Given the description of an element on the screen output the (x, y) to click on. 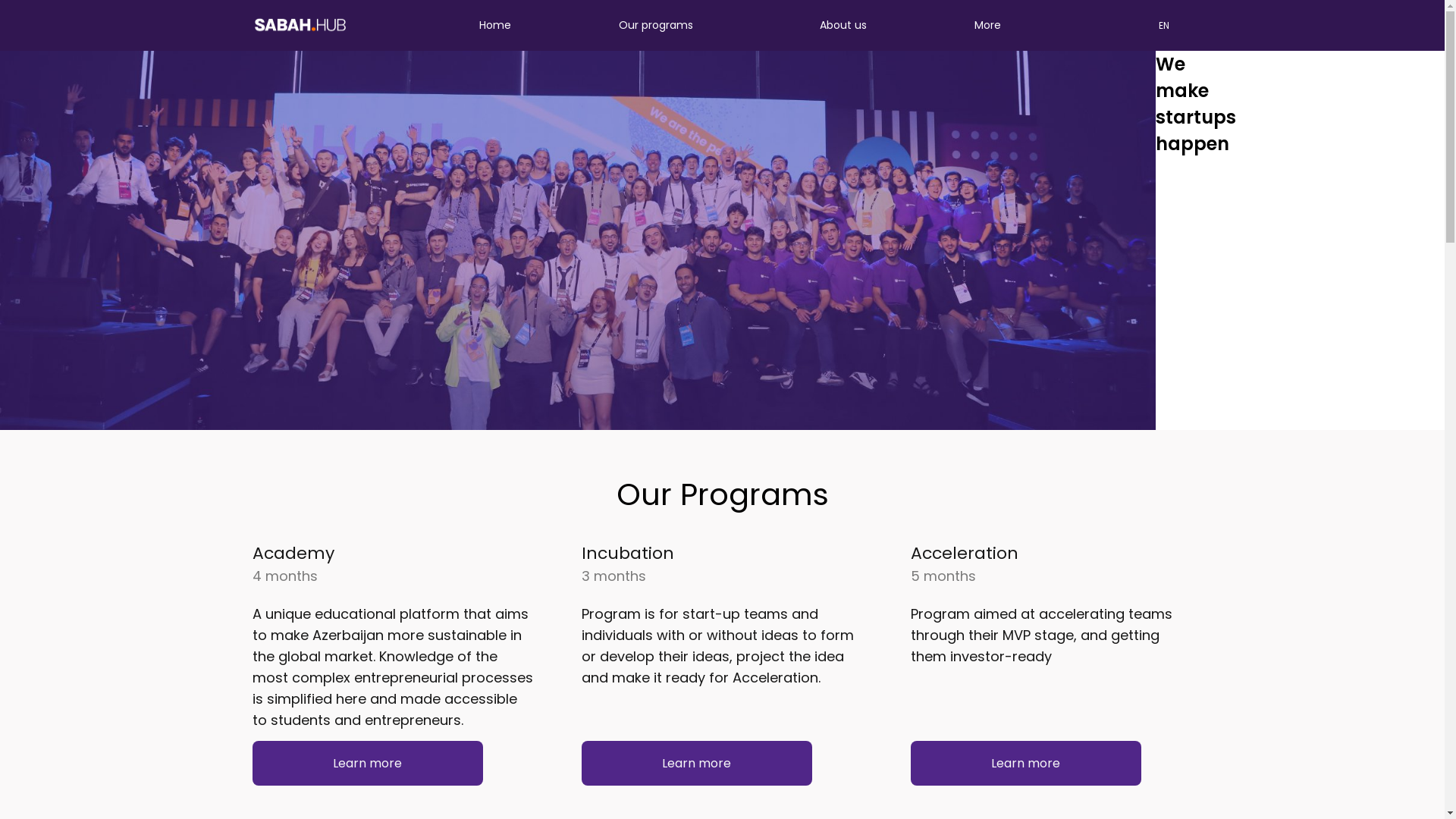
Learn more Element type: text (695, 762)
More Element type: text (986, 25)
<strong>We make startups happen</strong> Element type: hover (577, 239)
Learn more Element type: text (1025, 762)
EN Element type: text (1163, 24)
Learn more Element type: text (366, 762)
Home Element type: text (494, 25)
Our programs Element type: text (655, 25)
About us Element type: text (842, 25)
